Given the description of an element on the screen output the (x, y) to click on. 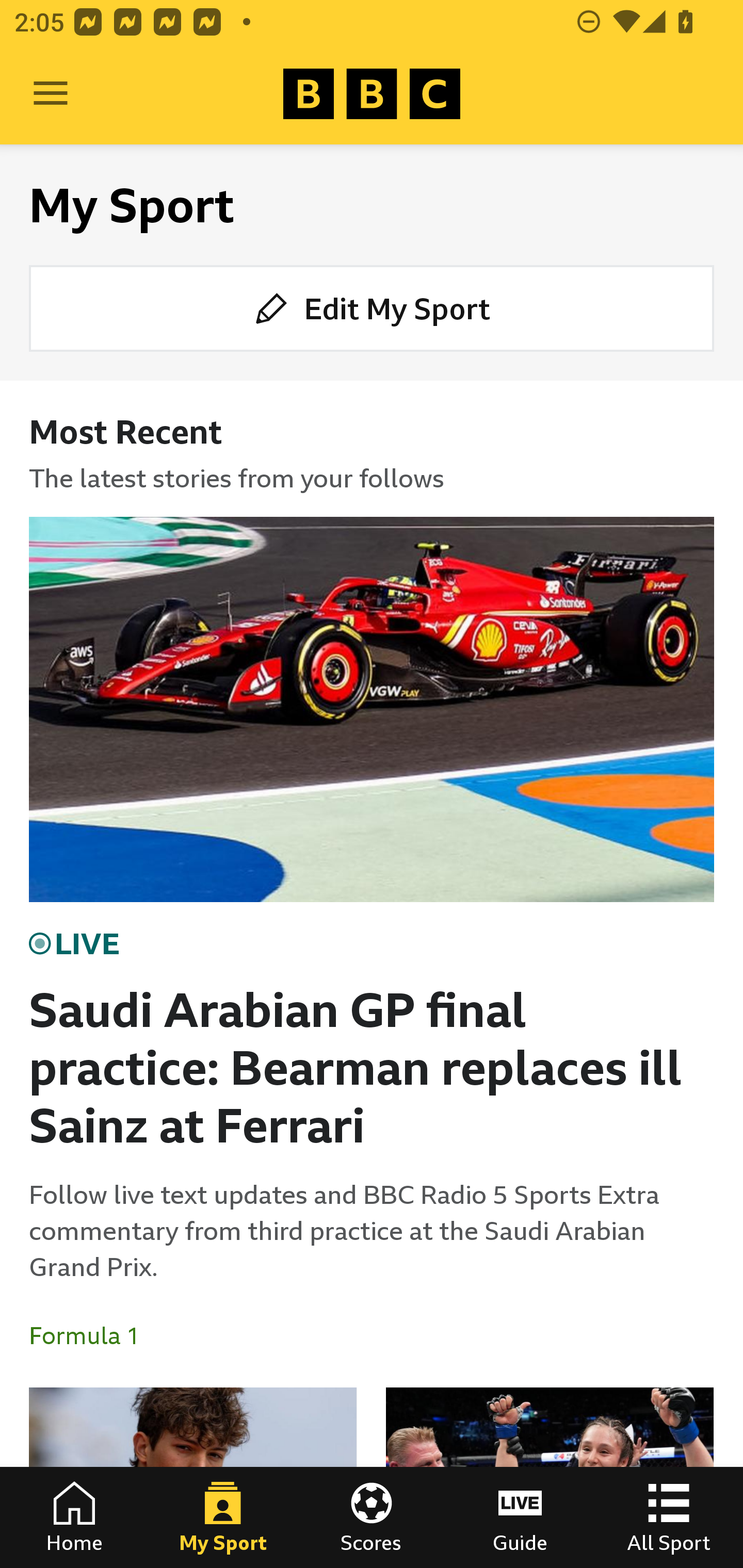
Open Menu (50, 93)
Edit My Sport (371, 307)
Home (74, 1517)
Scores (371, 1517)
Guide (519, 1517)
All Sport (668, 1517)
